Given the description of an element on the screen output the (x, y) to click on. 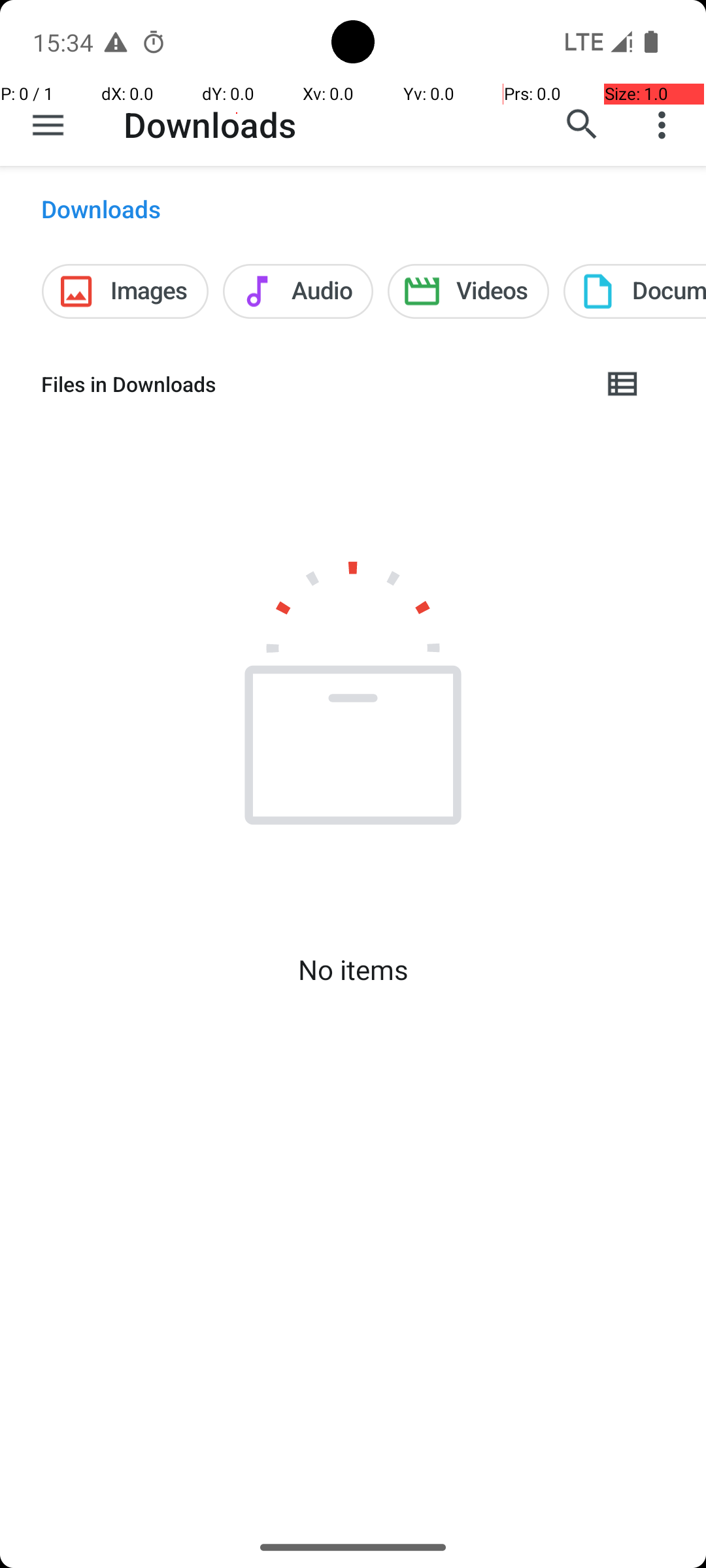
No items Element type: android.widget.TextView (352, 968)
